Given the description of an element on the screen output the (x, y) to click on. 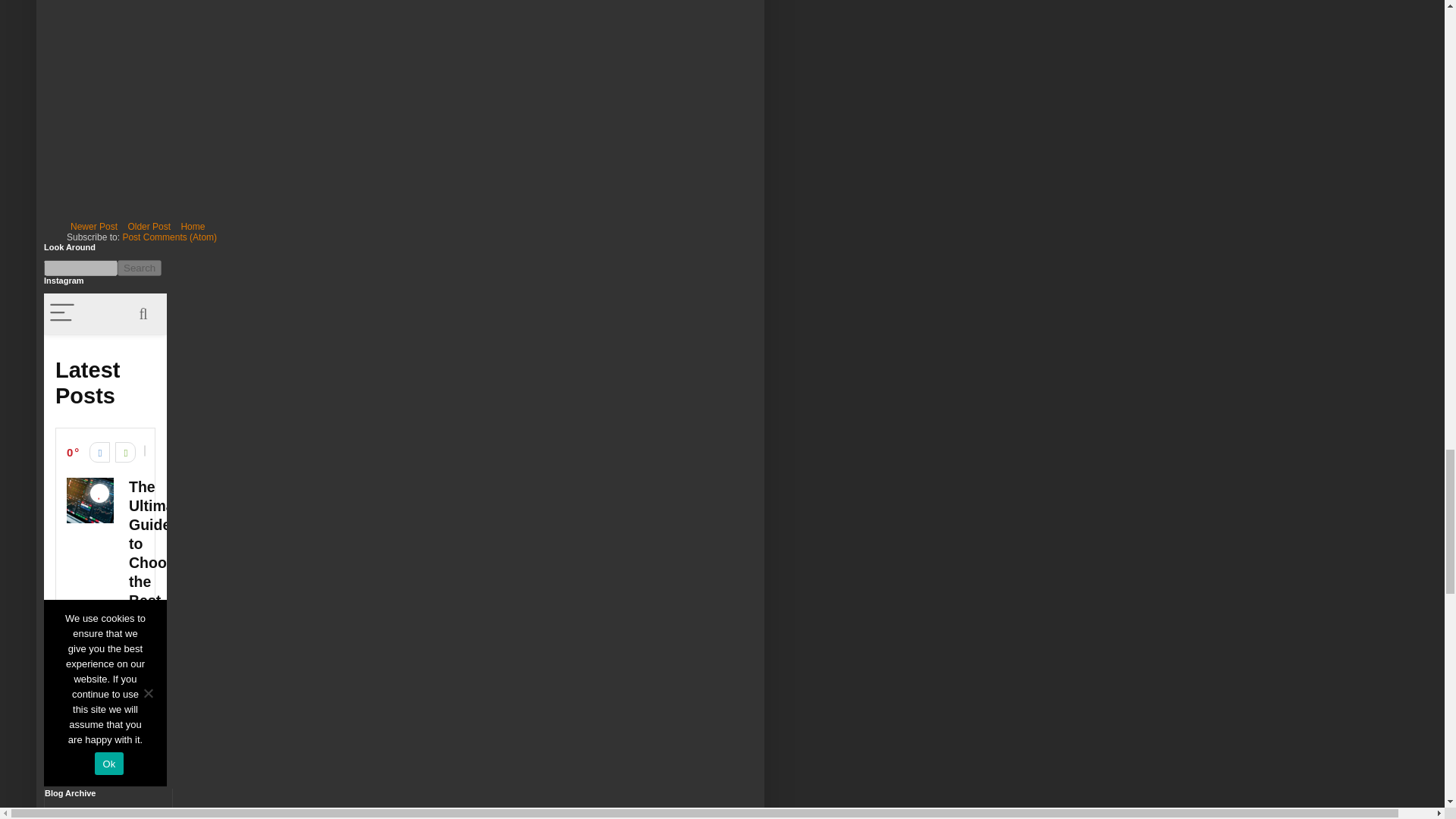
Home (192, 226)
Newer Post (93, 226)
search (80, 268)
Search (139, 268)
Search (139, 268)
Search (139, 268)
search (139, 268)
Older Post (148, 226)
Older Post (148, 226)
January (136, 818)
Newer Post (93, 226)
2017 (100, 811)
